Given the description of an element on the screen output the (x, y) to click on. 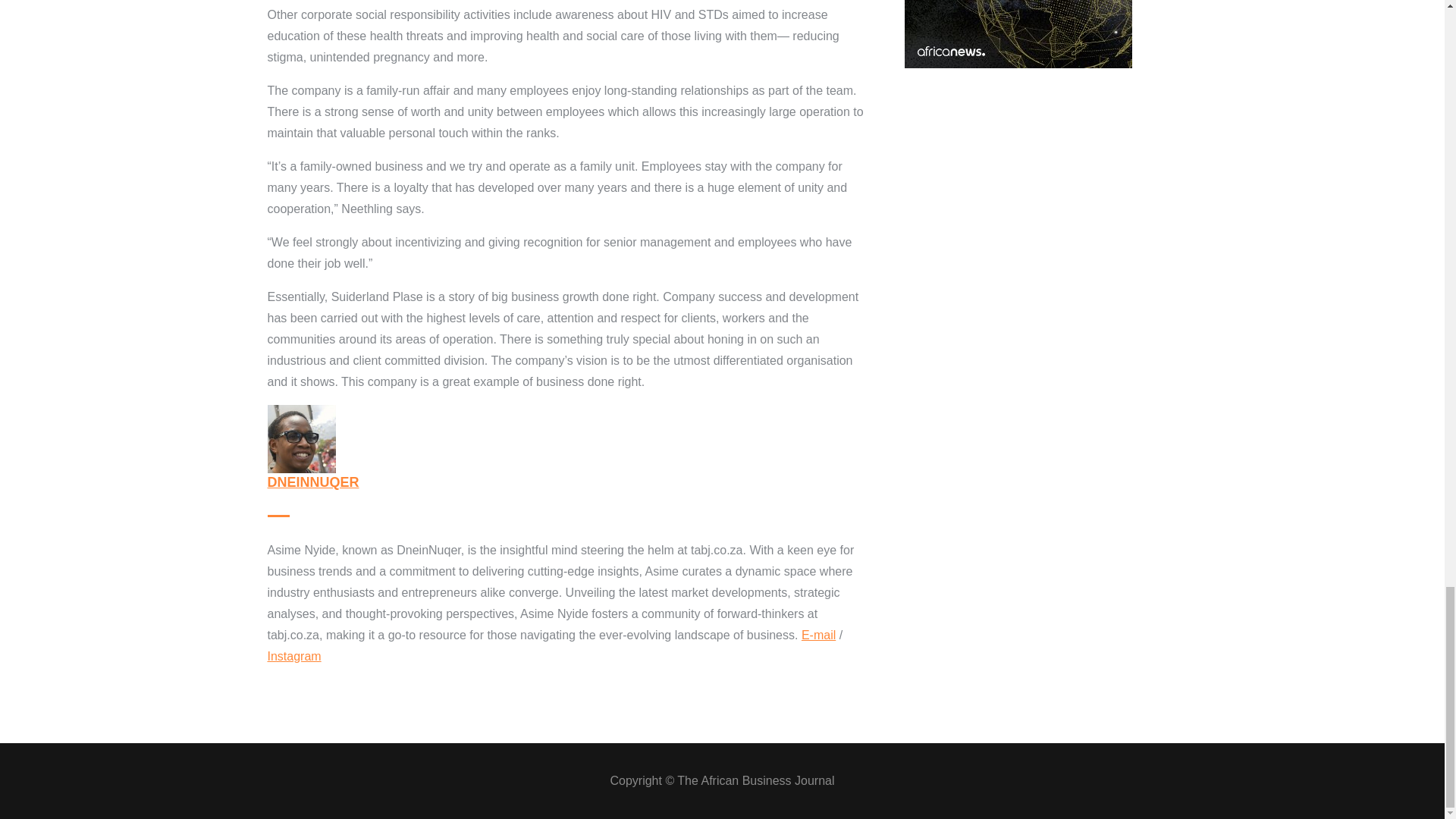
DNEINNUQER (312, 482)
E-mail (818, 634)
Instagram (293, 656)
